Given the description of an element on the screen output the (x, y) to click on. 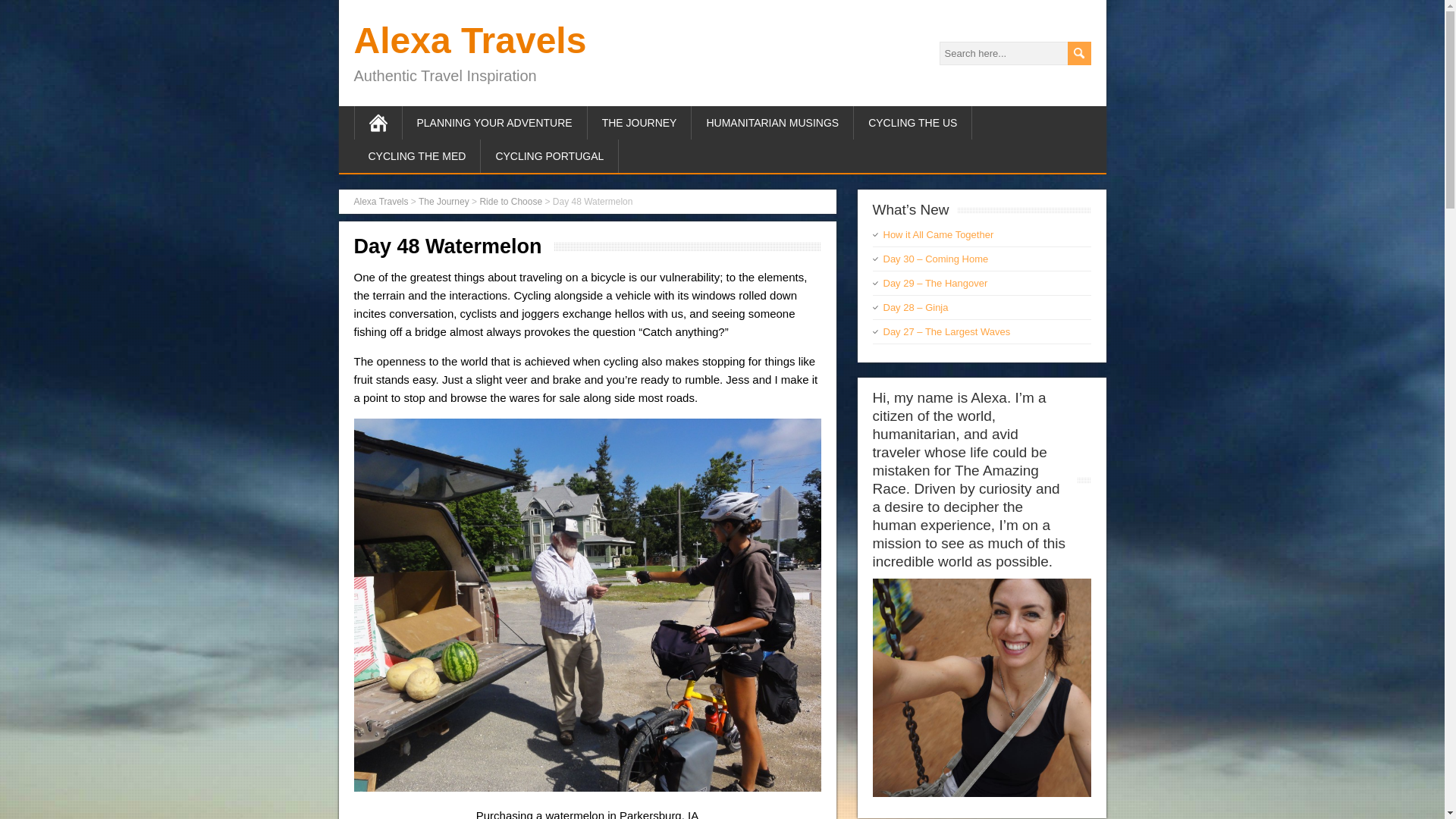
PLANNING YOUR ADVENTURE (493, 122)
HUMANITARIAN MUSINGS (772, 122)
Go to the Ride to Choose Category archives. (510, 201)
CYCLING THE US (912, 122)
Alexa Travels (380, 201)
THE JOURNEY (640, 122)
Go to The Journey. (443, 201)
Ride to Choose (510, 201)
Go to Alexa Travels. (380, 201)
Alexa Travels (469, 40)
How it All Came Together (937, 234)
CYCLING THE MED (416, 155)
CYCLING PORTUGAL (549, 155)
The Journey (443, 201)
